Given the description of an element on the screen output the (x, y) to click on. 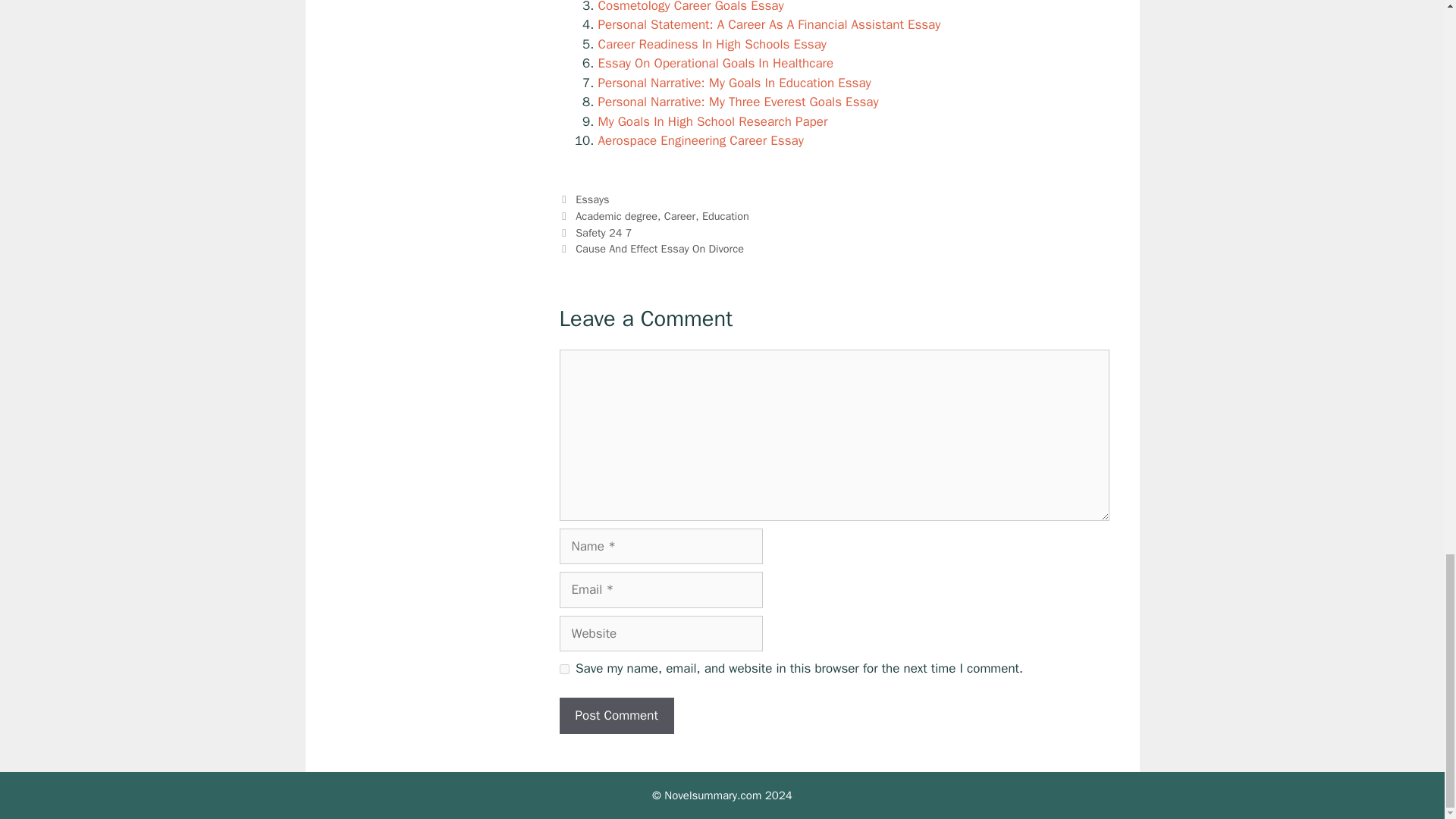
Personal Statement: A Career As A Financial Assistant Essay (768, 24)
Cosmetology Career Goals Essay (689, 6)
Career (679, 215)
Post Comment (616, 715)
Aerospace Engineering Career Essay (699, 140)
yes (564, 669)
Essays (591, 199)
Personal Narrative: My Three Everest Goals Essay (736, 101)
Essay On Operational Goals In Healthcare (714, 63)
Career Readiness In High Schools Essay (711, 44)
Personal Statement: A Career As A Financial Assistant Essay (768, 24)
Personal Narrative: My Goals In Education Essay (733, 82)
Cosmetology Career Goals Essay (689, 6)
Cause And Effect Essay On Divorce (659, 248)
Academic degree (616, 215)
